Given the description of an element on the screen output the (x, y) to click on. 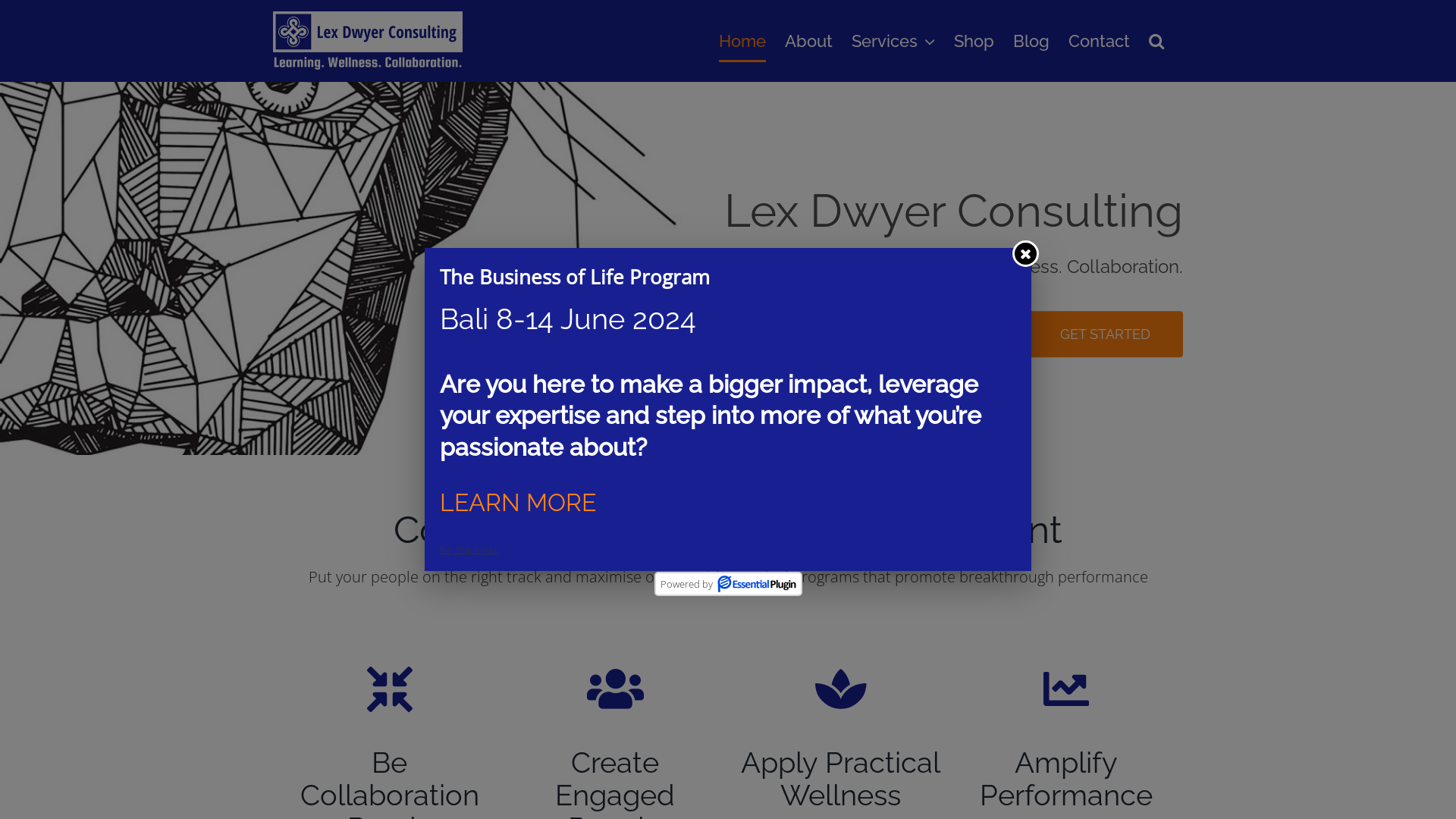
Blog Element type: text (1031, 40)
Services Element type: text (893, 40)
LEARN MORE Element type: text (517, 502)
Powered by Element type: text (727, 583)
Search Element type: hover (1156, 40)
Contact Element type: text (1098, 40)
3 Element type: text (745, 416)
Home Element type: text (741, 40)
About Element type: text (808, 40)
2 Element type: text (727, 416)
Shop Element type: text (973, 40)
1 Element type: text (710, 416)
